Given the description of an element on the screen output the (x, y) to click on. 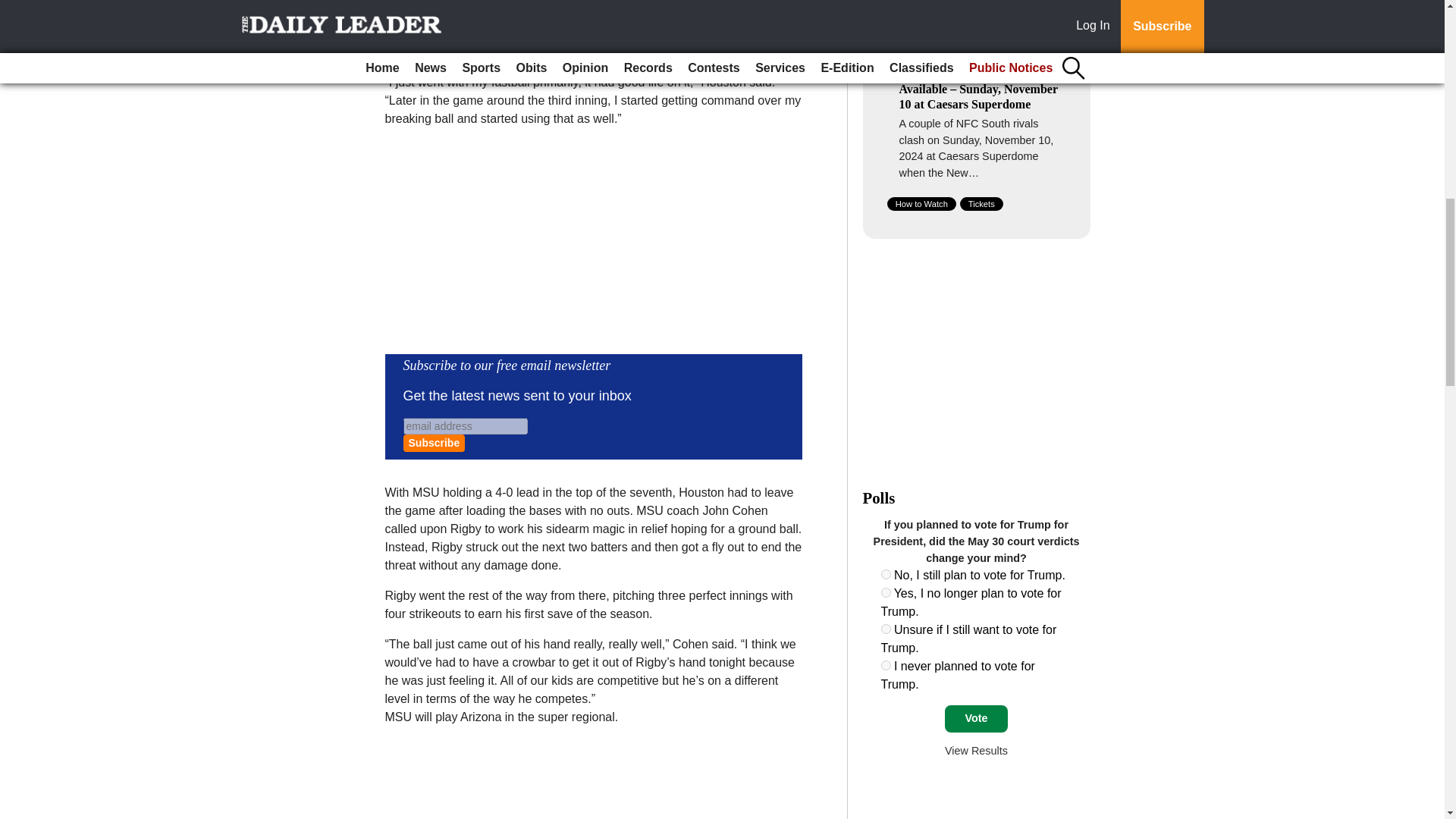
Subscribe (434, 443)
   Vote    (975, 718)
View Results Of This Poll (975, 750)
846 (885, 574)
How to Watch (921, 203)
847 (885, 592)
849 (885, 665)
Subscribe (434, 443)
848 (885, 628)
